Given the description of an element on the screen output the (x, y) to click on. 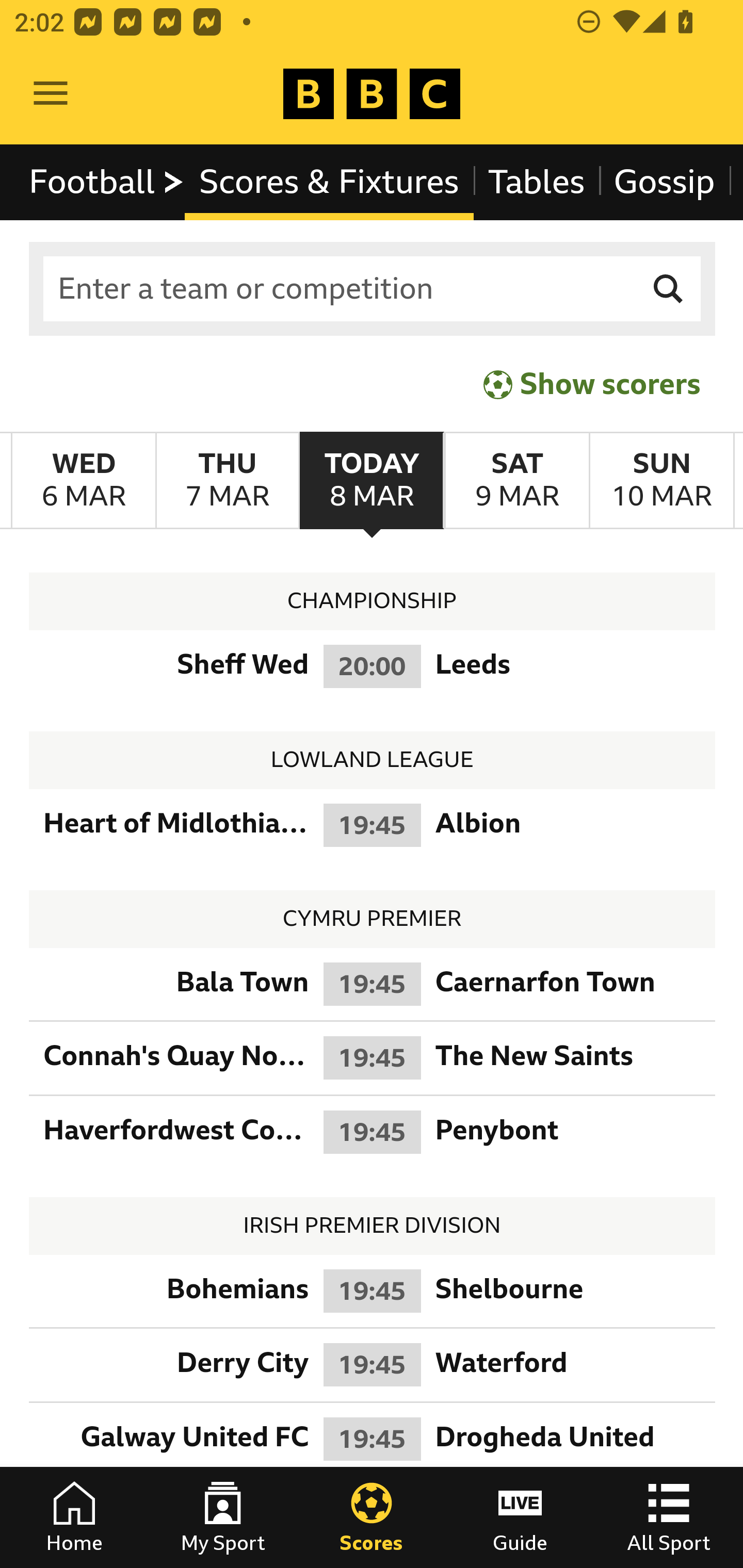
Open Menu (50, 93)
Football  (106, 181)
Scores & Fixtures (329, 181)
Tables (536, 181)
Gossip (664, 181)
Search (669, 289)
Show scorers (591, 383)
WednesdayMarch 6th Wednesday March 6th (83, 480)
ThursdayMarch 7th Thursday March 7th (227, 480)
SaturdayMarch 9th Saturday March 9th (516, 480)
SundayMarch 10th Sunday March 10th (661, 480)
Home (74, 1517)
My Sport (222, 1517)
Guide (519, 1517)
All Sport (668, 1517)
